Given the description of an element on the screen output the (x, y) to click on. 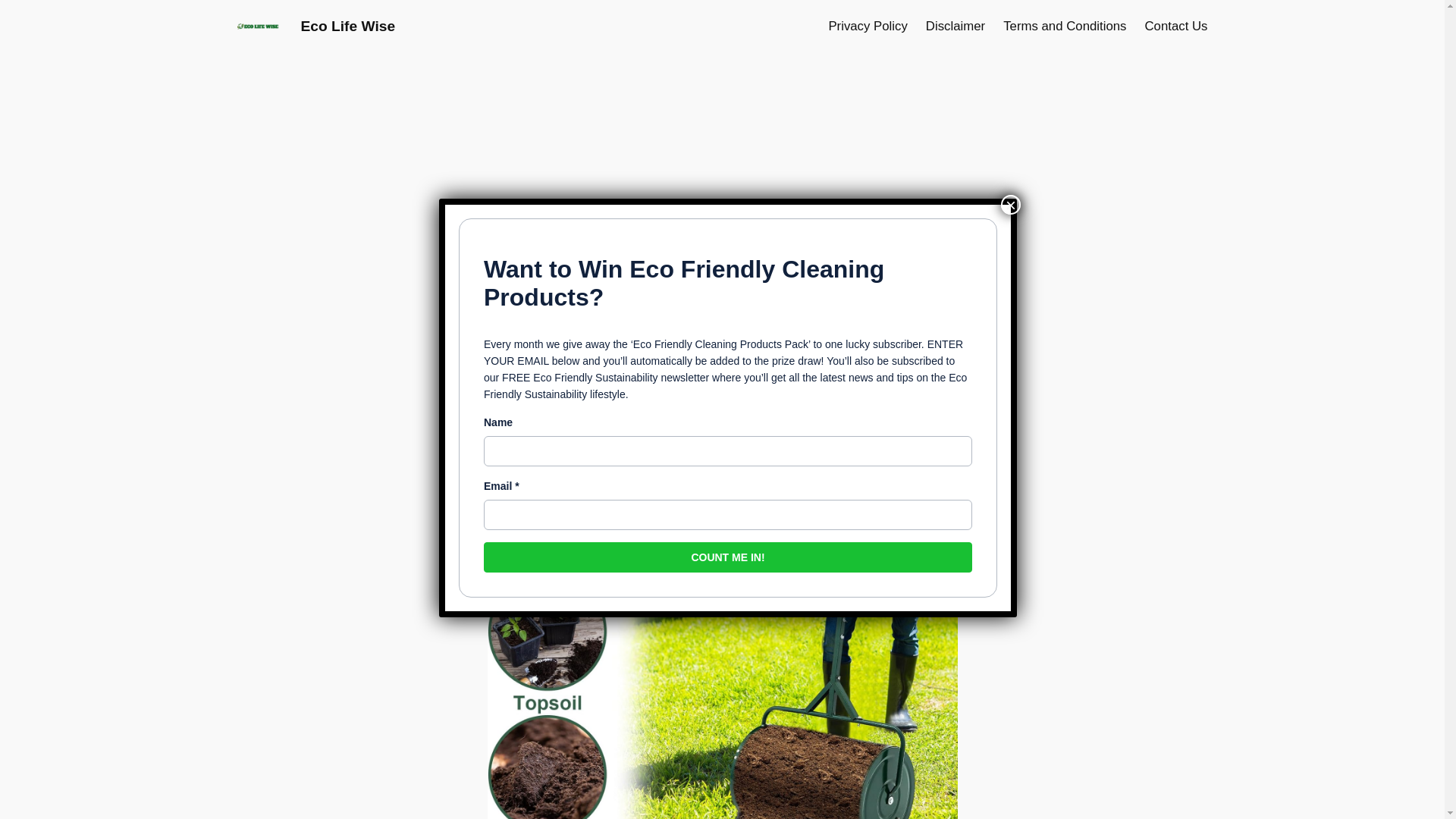
Contact Us (1175, 26)
Privacy Policy (867, 26)
Eco Life Wise (346, 26)
Disclaimer (955, 26)
Terms and Conditions (1064, 26)
